Given the description of an element on the screen output the (x, y) to click on. 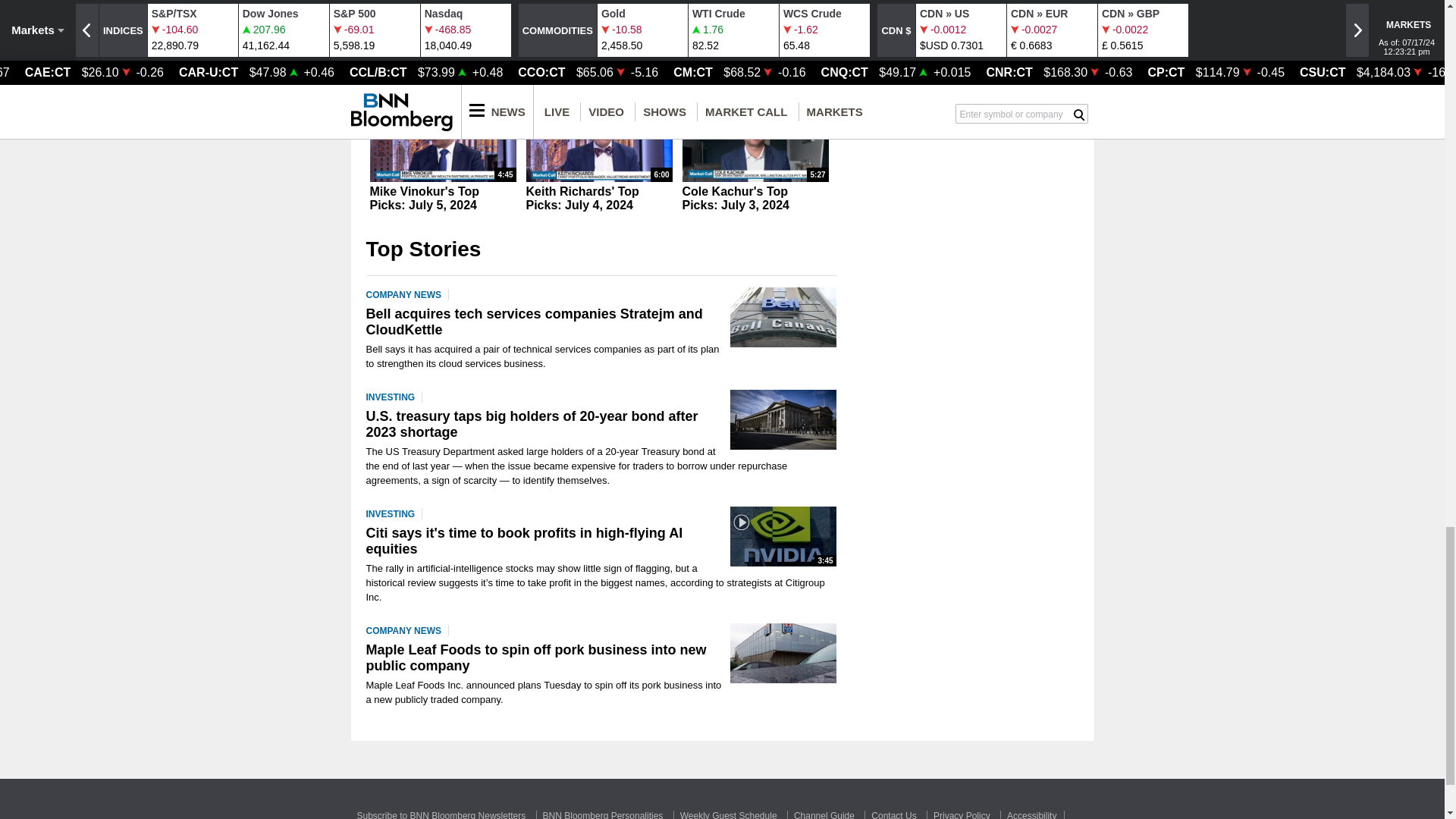
Nvidia sign (782, 536)
Bell signage (782, 317)
